Given the description of an element on the screen output the (x, y) to click on. 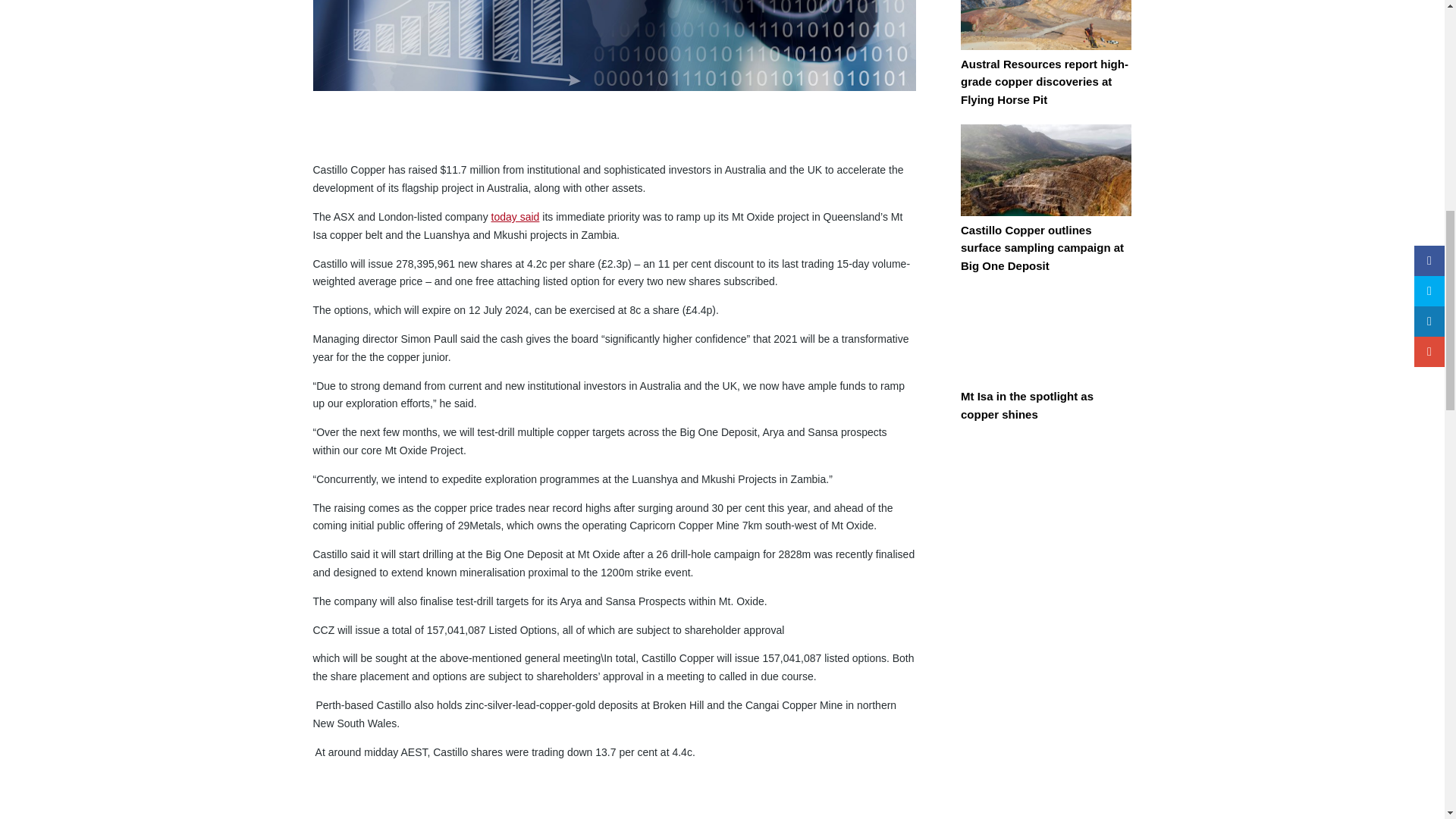
Mt Isa in the spotlight as copper shines (1045, 346)
